Given the description of an element on the screen output the (x, y) to click on. 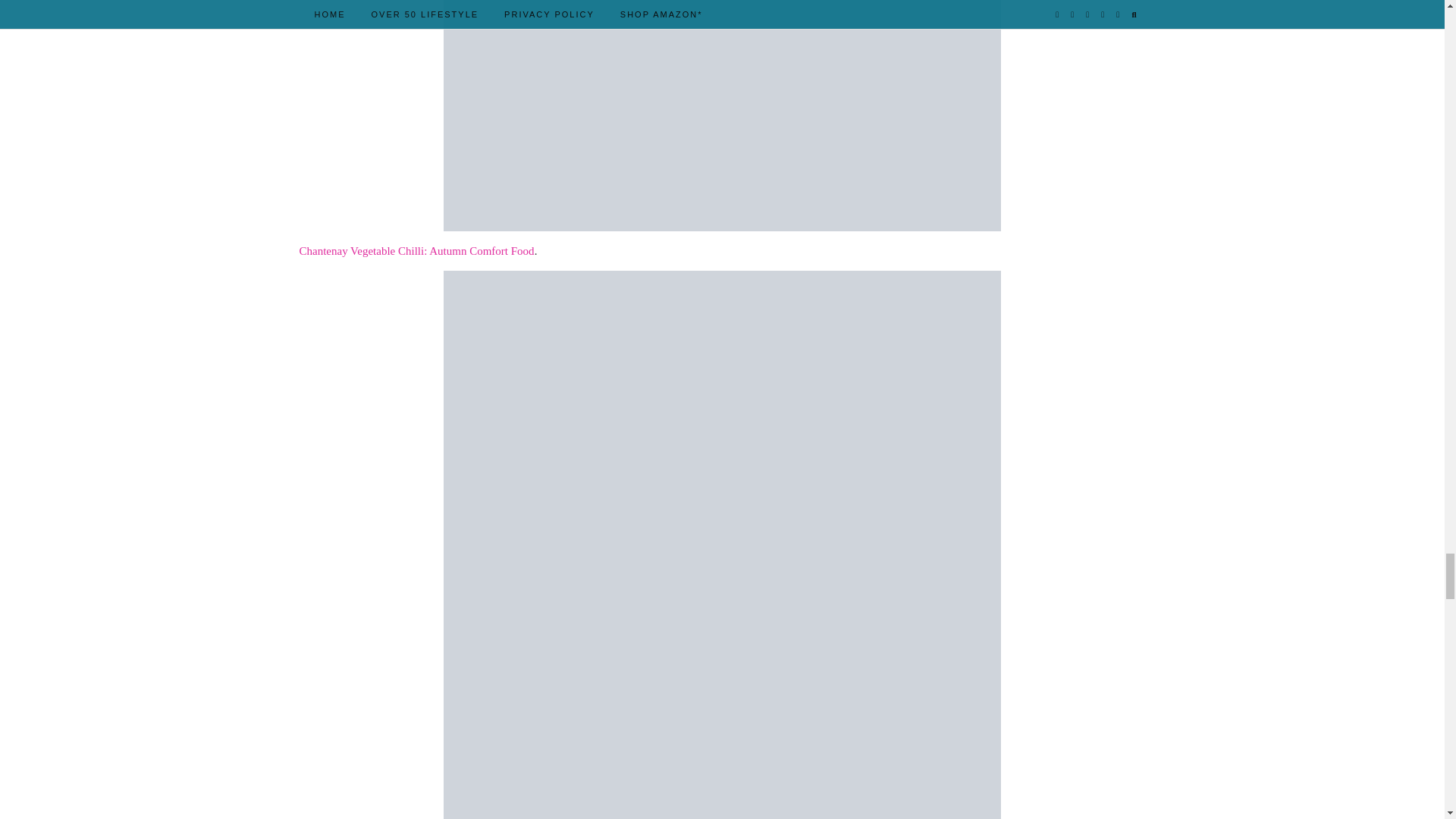
Chantenay Vegetable Chilli: Autumn Comfort Food (416, 250)
